Given the description of an element on the screen output the (x, y) to click on. 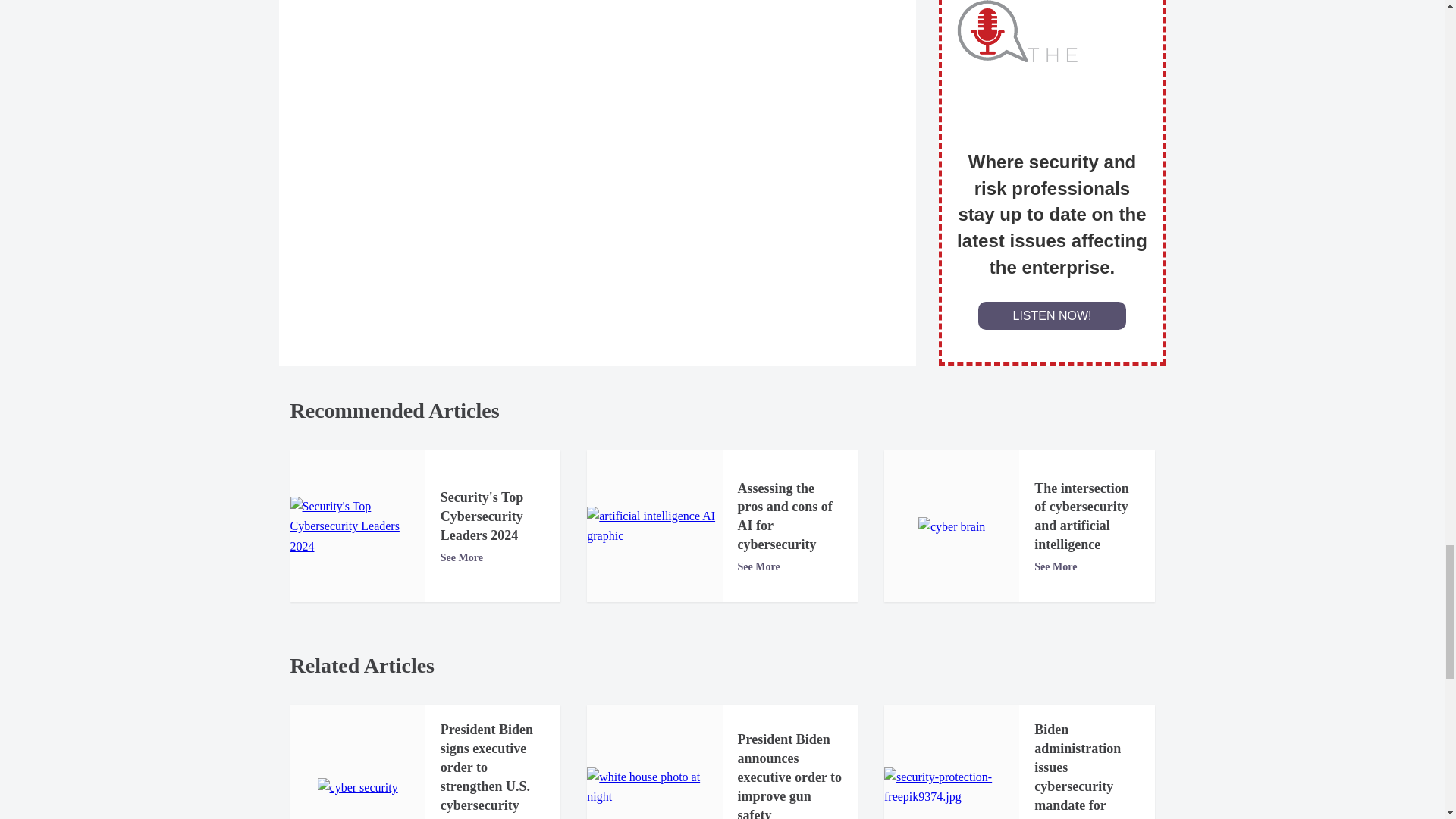
cybersecurity insurance (357, 787)
Security's Top Cybersecurity Leaders 2024 (357, 526)
Artificial Intelligence (654, 526)
white house photo at night (654, 787)
cyber brain (951, 526)
